Given the description of an element on the screen output the (x, y) to click on. 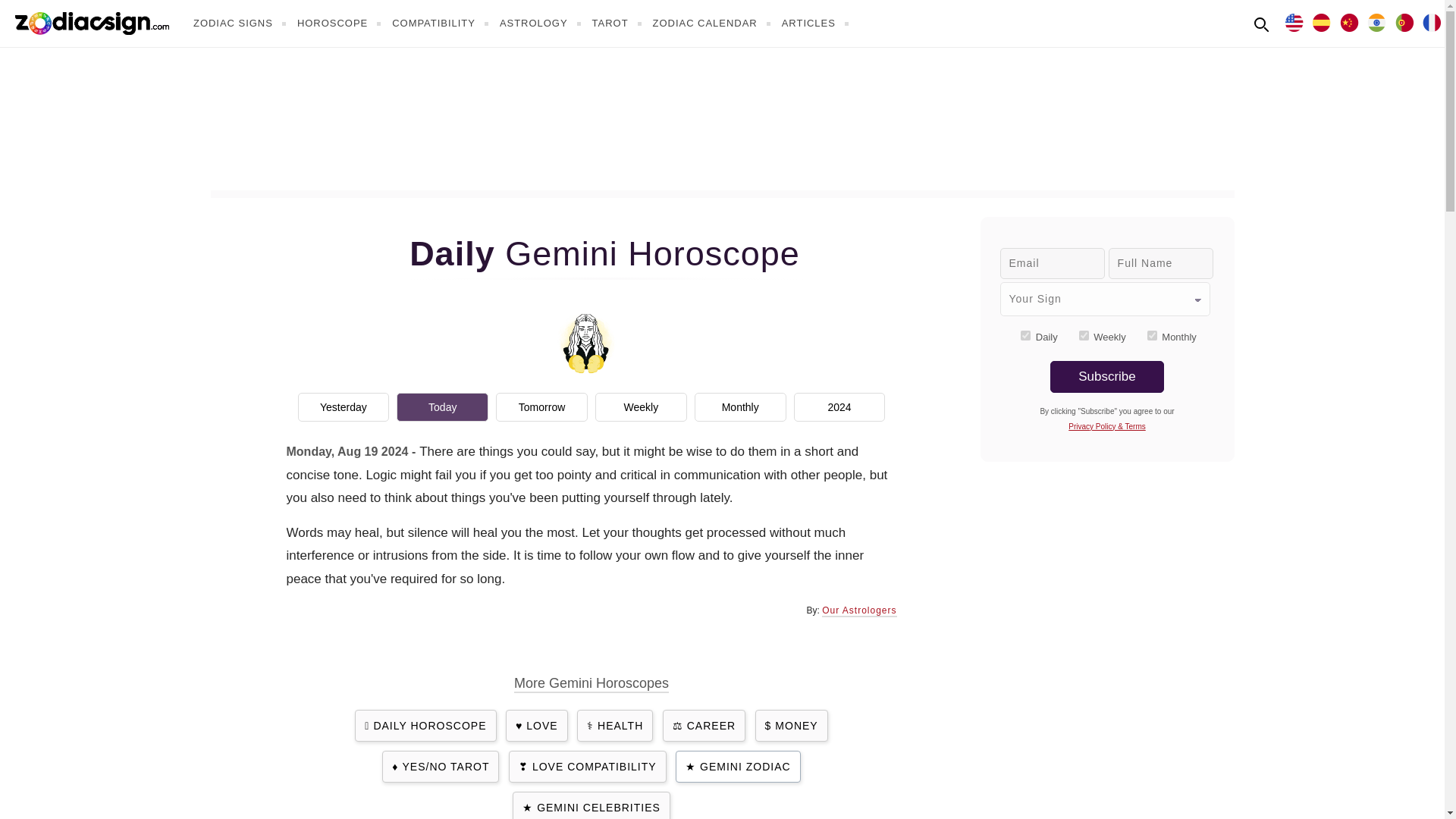
ZODIAC SIGNS (241, 23)
weekly (1083, 335)
In English (1294, 21)
daily (1025, 335)
monthly (1152, 335)
HOROSCOPE (341, 23)
